Given the description of an element on the screen output the (x, y) to click on. 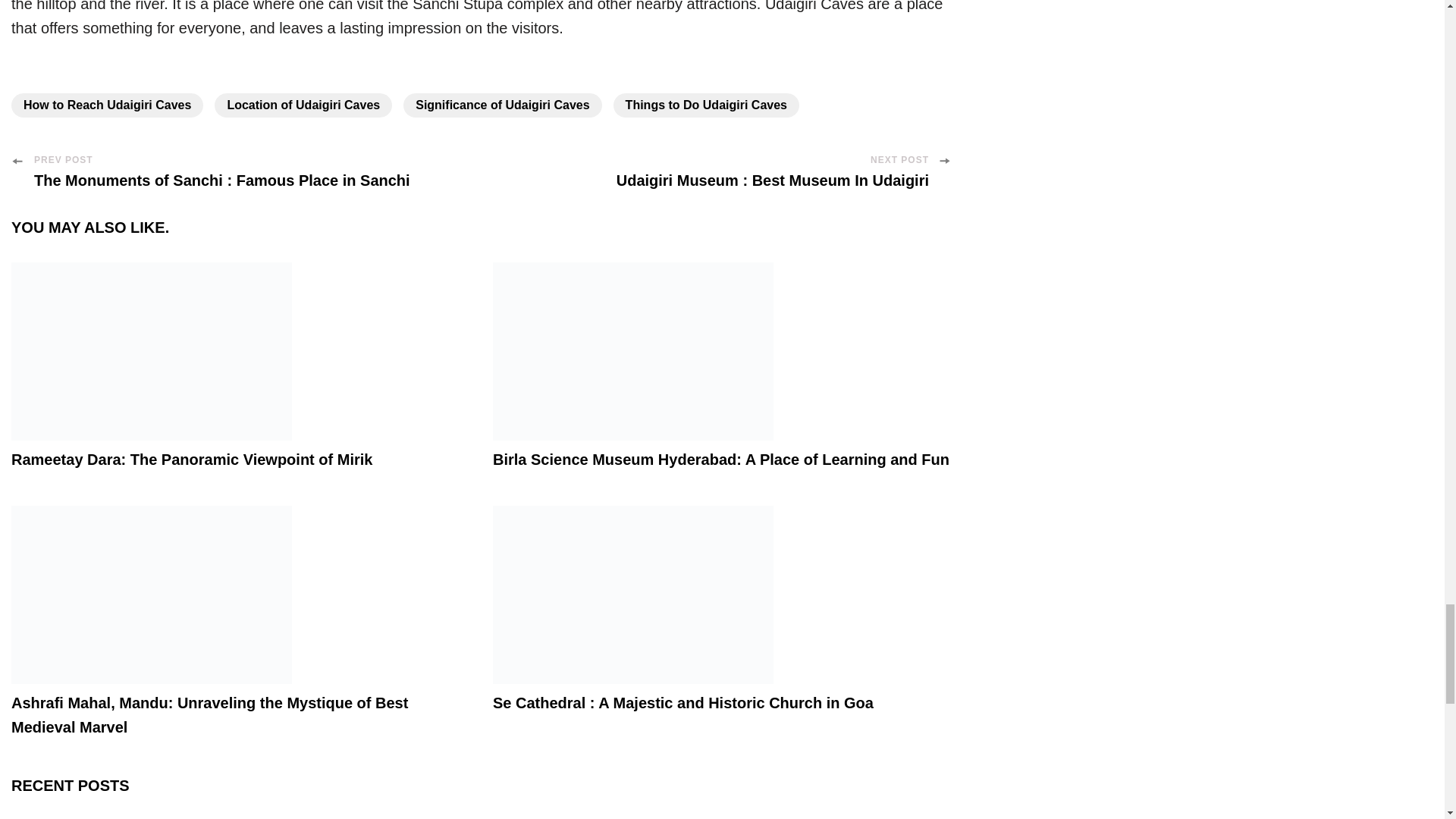
Rameetay Dara: The Panoramic Viewpoint of Mirik 7 (151, 351)
Se Cathedral : A Majestic and Historic Church in Goa 10 (633, 594)
